Given the description of an element on the screen output the (x, y) to click on. 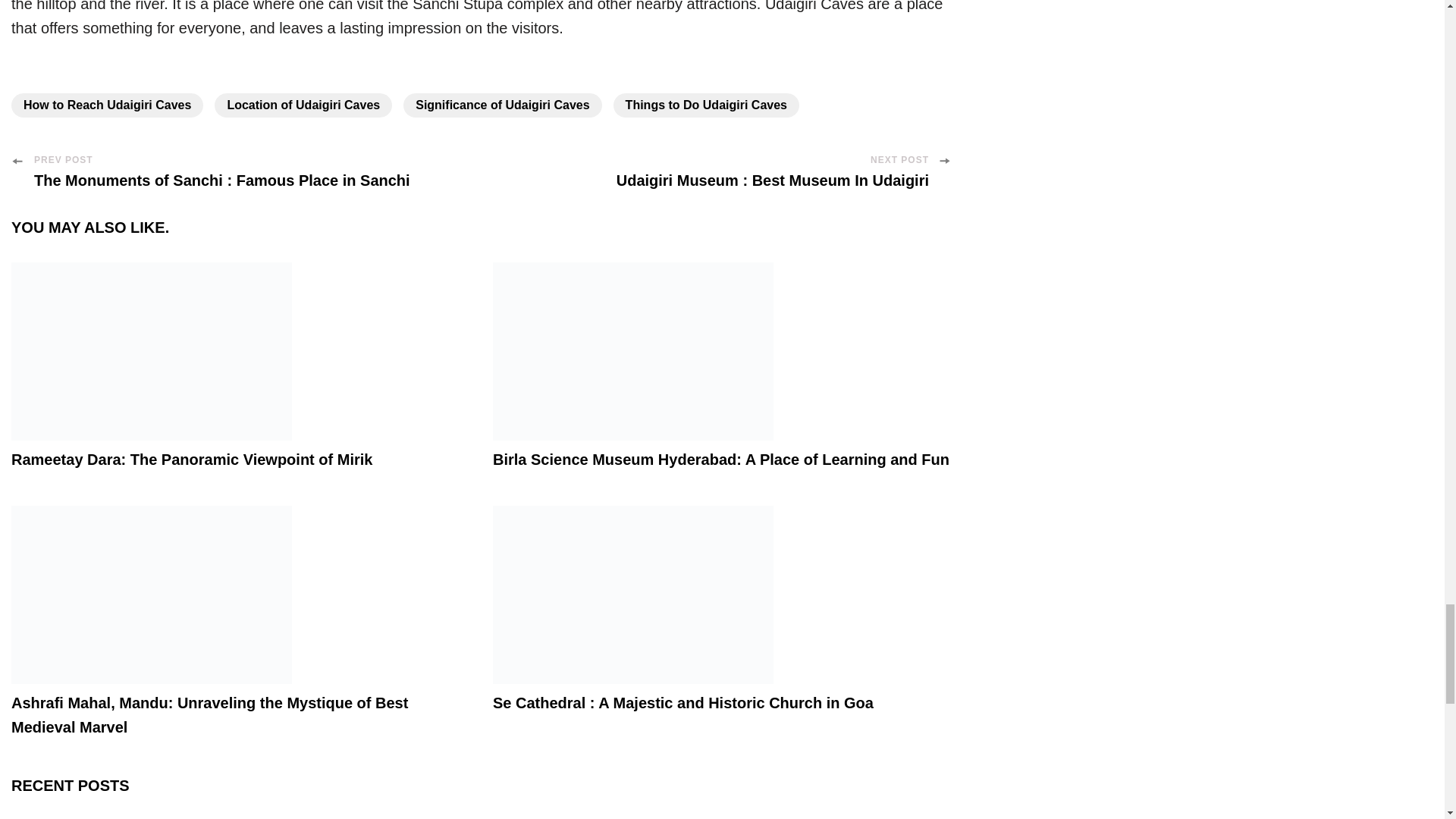
Rameetay Dara: The Panoramic Viewpoint of Mirik 7 (151, 351)
Se Cathedral : A Majestic and Historic Church in Goa 10 (633, 594)
